Given the description of an element on the screen output the (x, y) to click on. 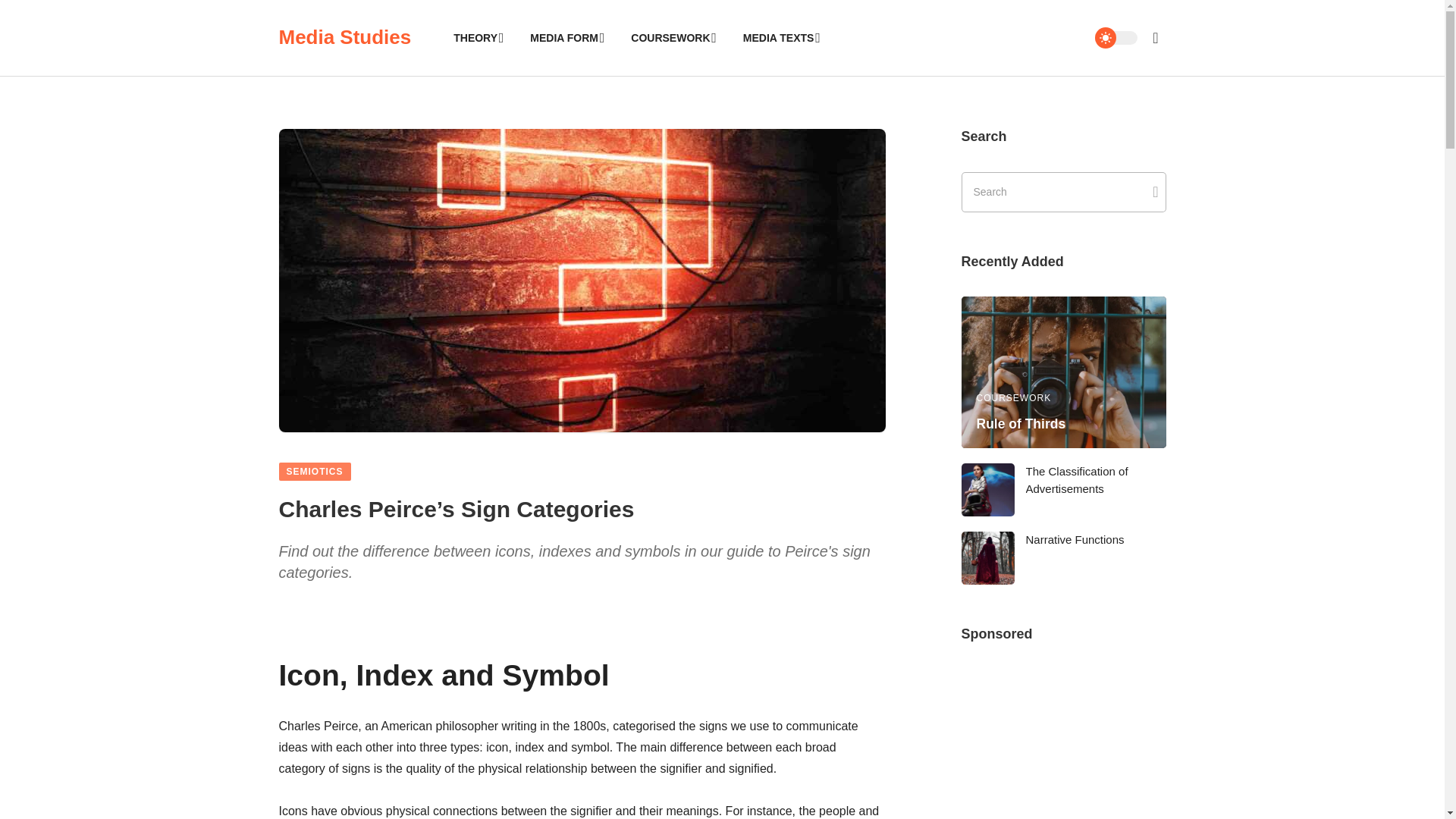
COURSEWORK (671, 38)
Advertisement (1063, 744)
Media Studies (345, 37)
THEORY (476, 38)
MEDIA FORM (565, 38)
